Given the description of an element on the screen output the (x, y) to click on. 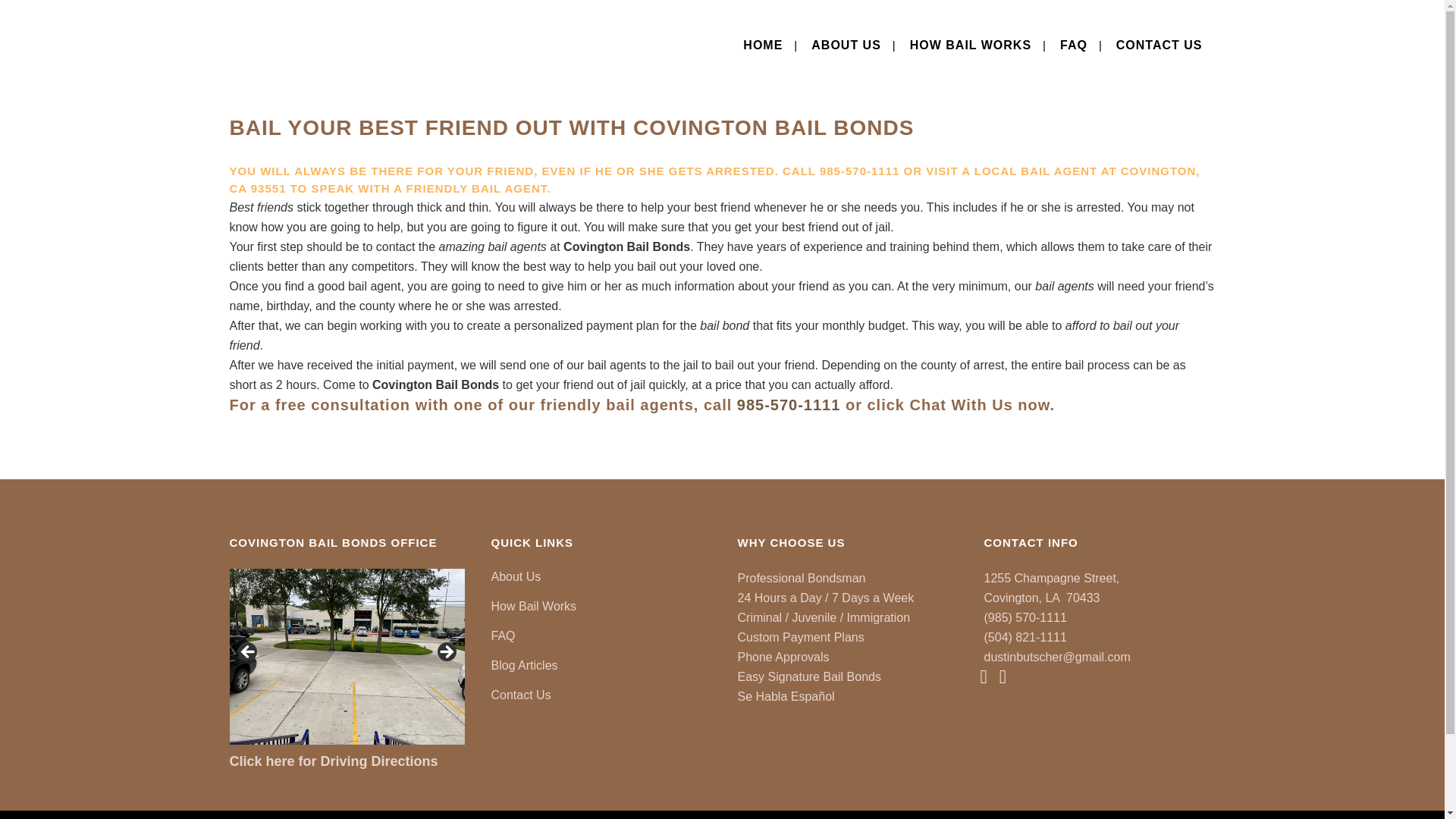
985-570-1111 (788, 404)
CONTACT US (1159, 45)
Click here for Driving Directions (333, 761)
covington-bailbonds3 (114, 656)
HOW BAIL WORKS (969, 45)
985-570-1111 (859, 170)
How Bail Works (603, 606)
FAQ (603, 636)
ABOUT US (845, 45)
covington-bailbonds2 (346, 656)
About Us (603, 576)
Blog Articles (603, 665)
Contact Us (603, 695)
